Given the description of an element on the screen output the (x, y) to click on. 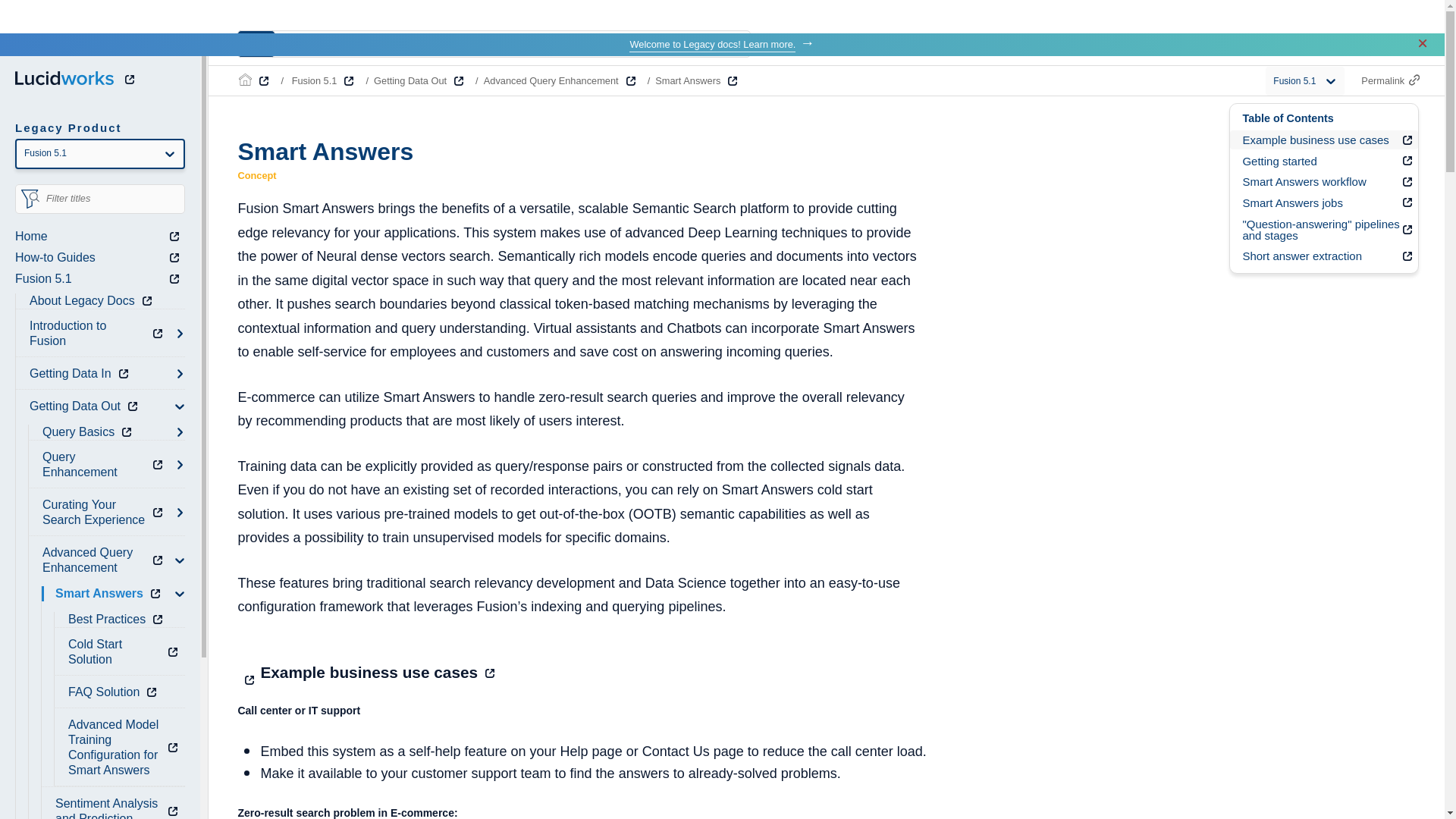
Change theme (1414, 44)
Advanced Query Enhancement (105, 560)
Sentiment Analysis and Prediction (119, 807)
Home (99, 236)
Smart Answers (110, 593)
Welcome to Legacy docs! Learn more. (711, 43)
Smart Answers workflow (1324, 181)
Fusion 5.1 (99, 278)
Getting started (1324, 160)
Getting Data Out (85, 406)
